Given the description of an element on the screen output the (x, y) to click on. 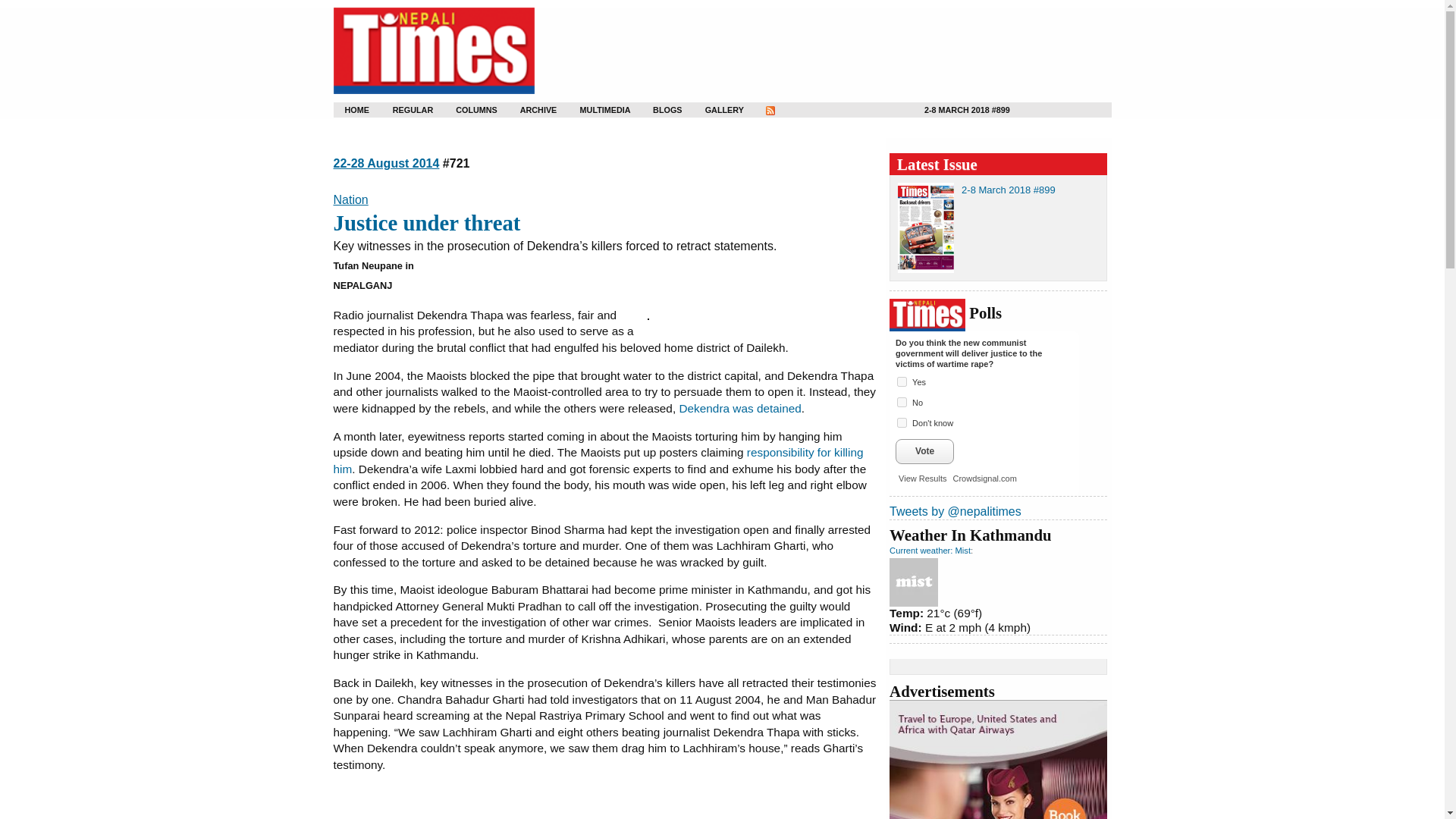
Nepali Times (433, 51)
Nepali Times (433, 51)
45613186 (901, 402)
RSS Feed (767, 110)
BLOGS (659, 110)
MULTIMEDIA (592, 110)
45613187 (901, 422)
REGULAR (403, 110)
Issue: 22-28 August 2014 (386, 163)
ARCHIVE (528, 110)
45613185 (901, 381)
Advertisement (605, 801)
COLUMNS (465, 110)
Issue: 2-8 March 2018 (1007, 189)
GALLERY (714, 110)
